Given the description of an element on the screen output the (x, y) to click on. 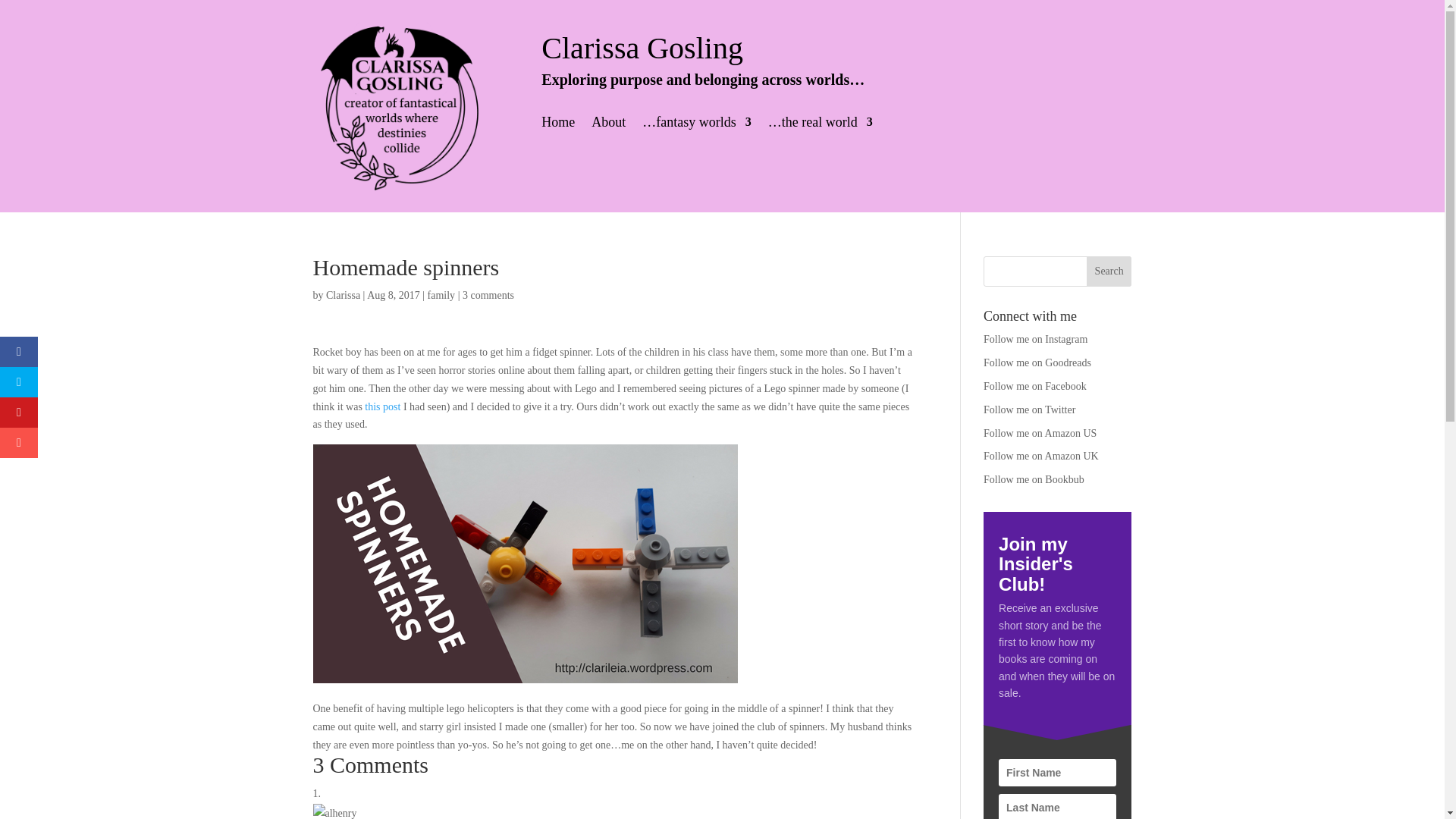
Follow me on Goodreads (1037, 362)
Follow me on Instagram (1035, 338)
Search (1109, 271)
Home (558, 125)
Follow me on Twitter (1029, 409)
Posts by Clarissa (342, 295)
family (441, 295)
Clarissa (342, 295)
website lighter (398, 105)
Search (1109, 271)
